Given the description of an element on the screen output the (x, y) to click on. 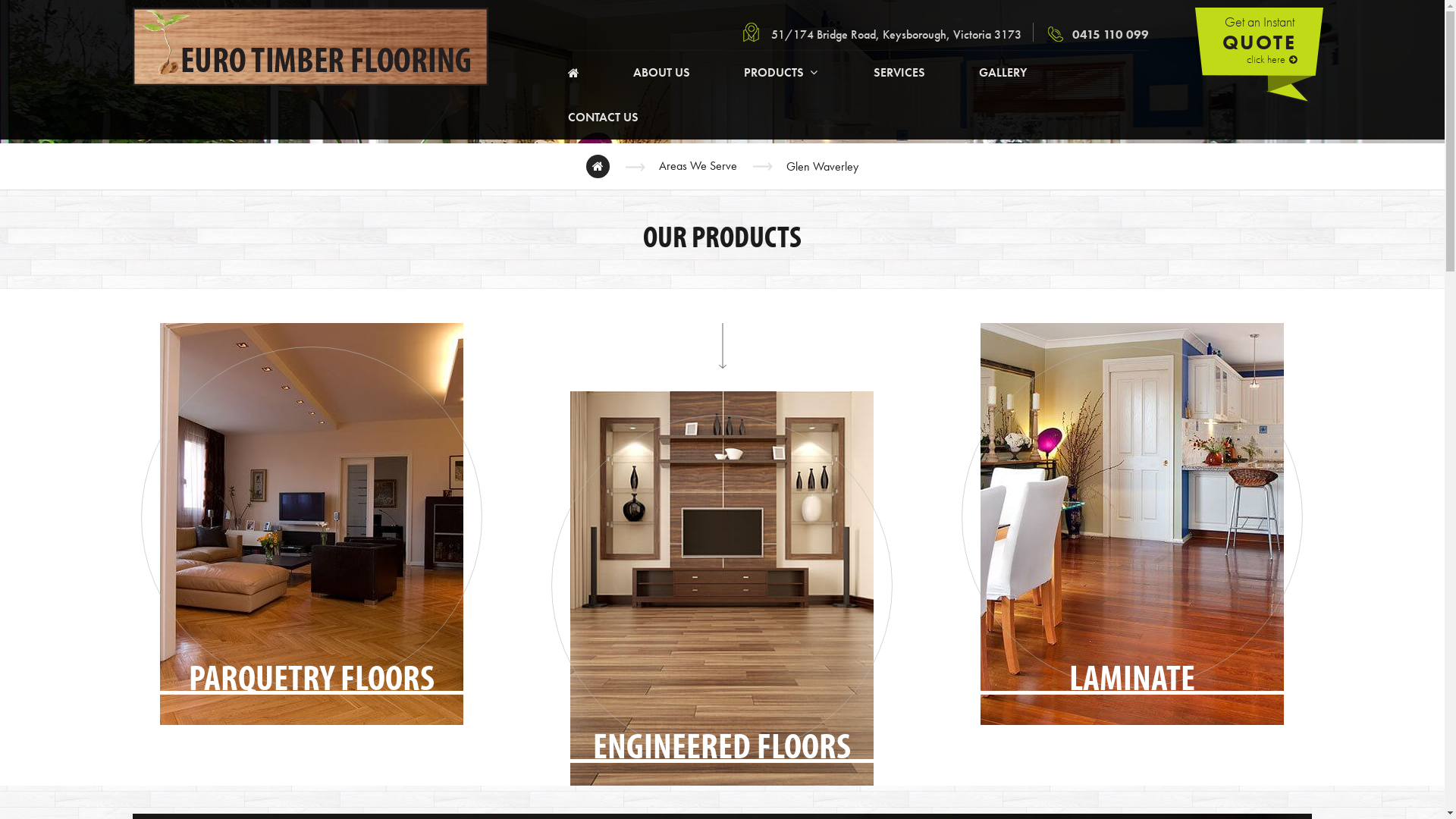
LAMINATE Element type: text (1131, 525)
ABOUT US Element type: text (661, 72)
ENGINEERED FLOORS Element type: text (721, 594)
0415 110 099 Element type: text (1098, 33)
Get an Instant
QUOTE
click here Element type: text (1259, 55)
GALLERY Element type: text (1002, 72)
CONTACT US Element type: text (602, 117)
PRODUCTS Element type: text (781, 72)
PARQUETRY FLOORS Element type: text (310, 525)
Areas We Serve Element type: text (697, 166)
SERVICES Element type: text (899, 72)
